Given the description of an element on the screen output the (x, y) to click on. 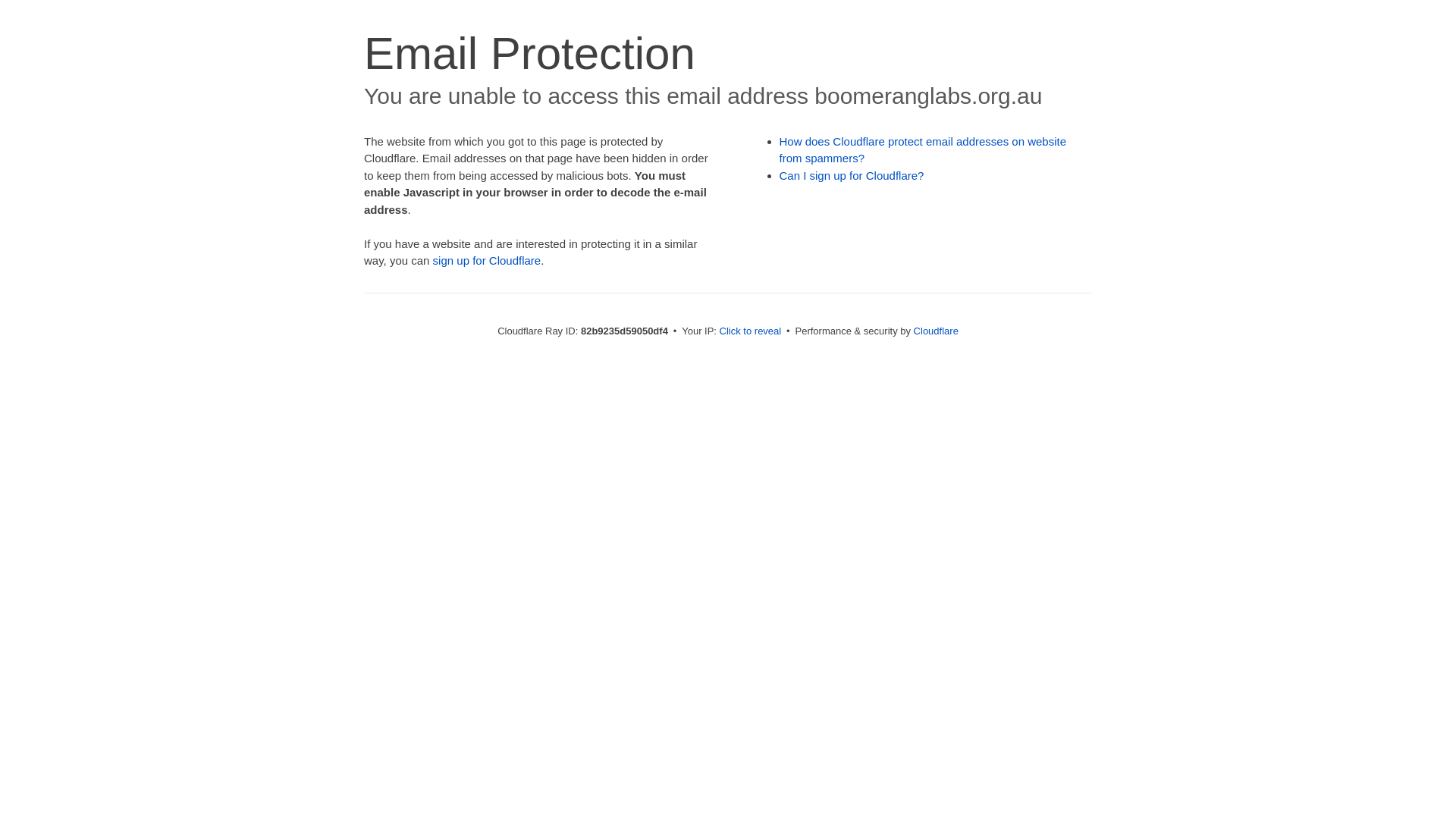
Cloudflare Element type: text (935, 330)
sign up for Cloudflare Element type: text (487, 260)
Click to reveal Element type: text (750, 330)
Can I sign up for Cloudflare? Element type: text (851, 175)
